Given the description of an element on the screen output the (x, y) to click on. 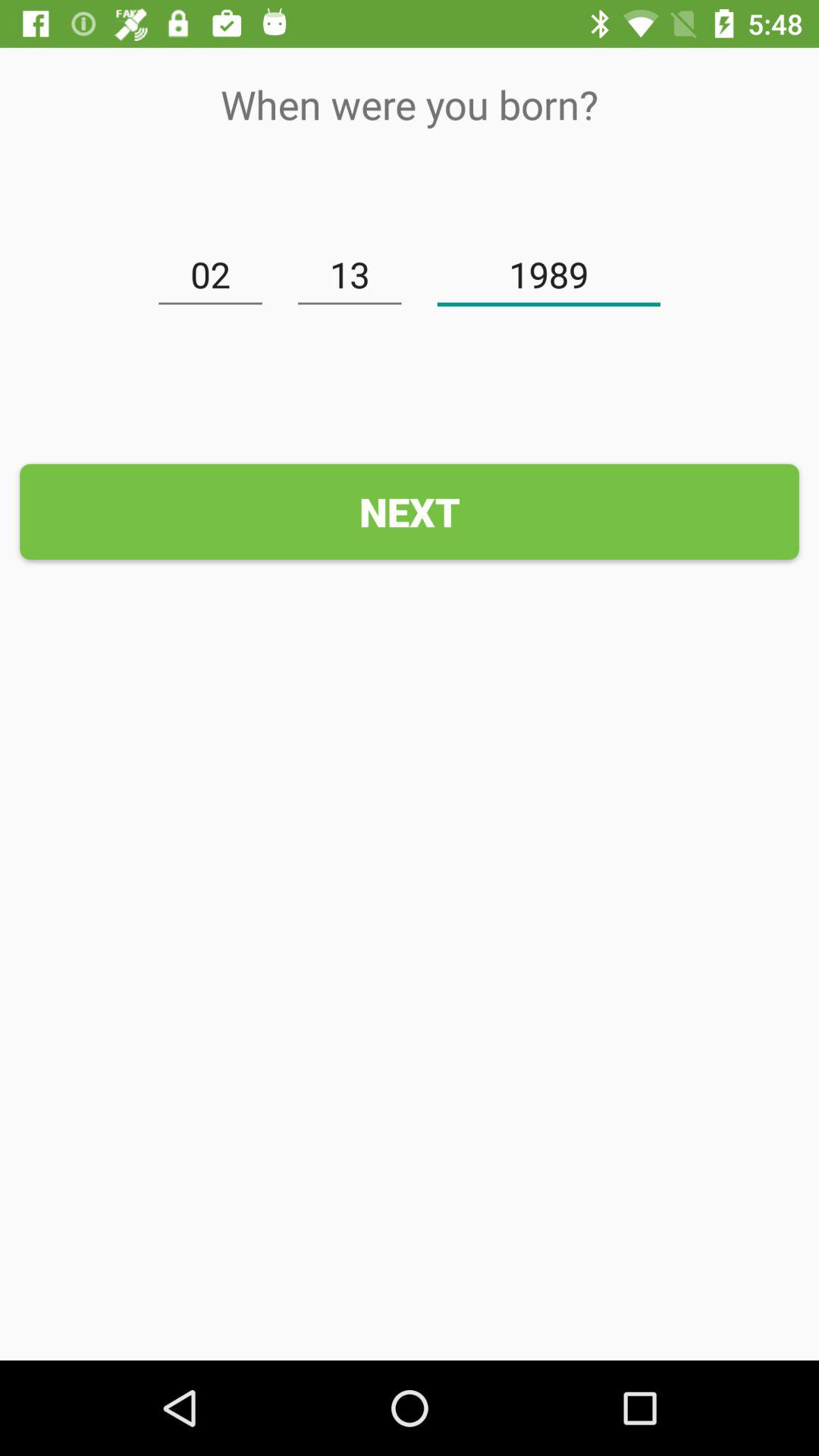
tap icon next to the 02 item (349, 275)
